Given the description of an element on the screen output the (x, y) to click on. 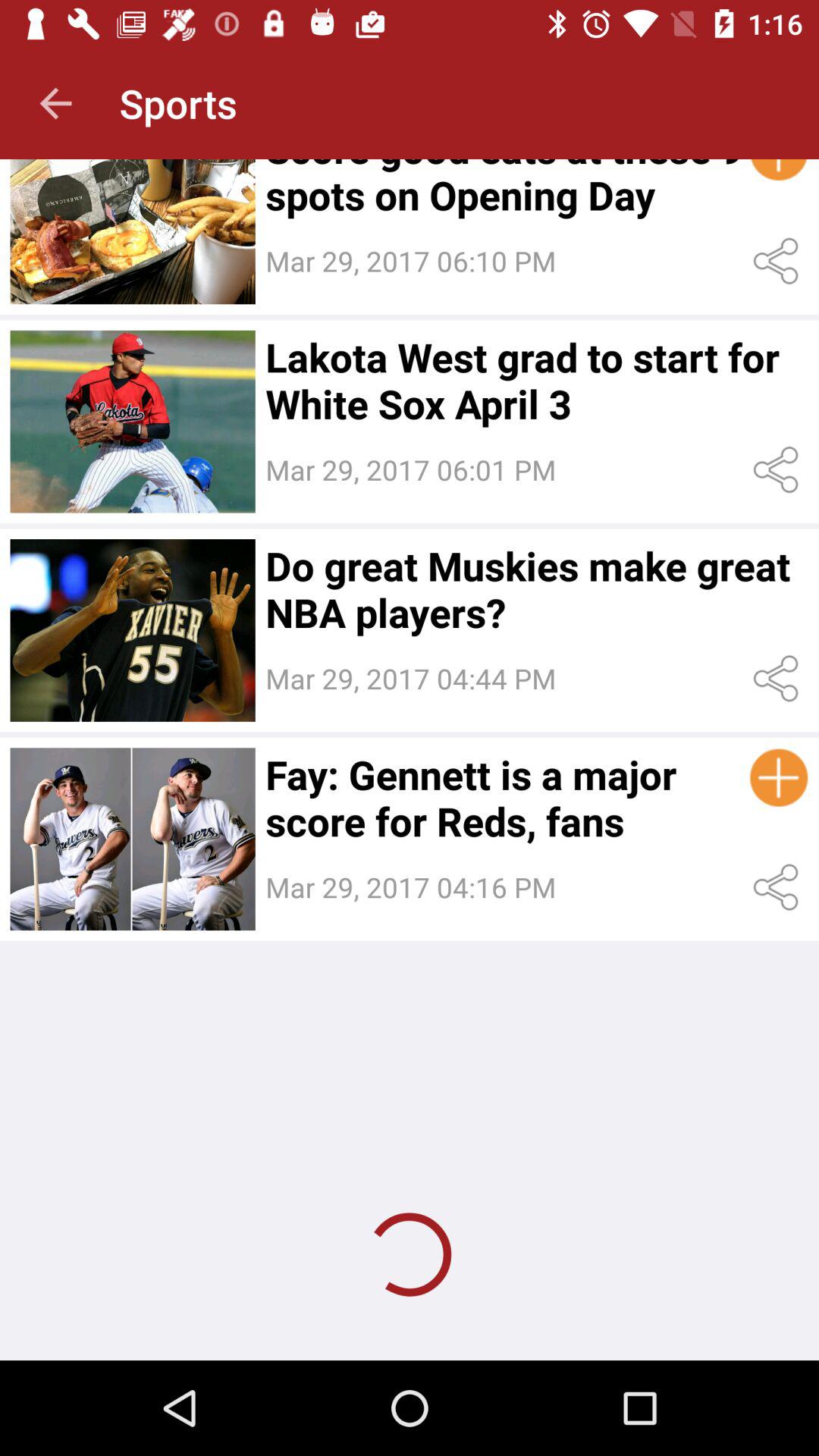
photos of gennett (132, 838)
